Given the description of an element on the screen output the (x, y) to click on. 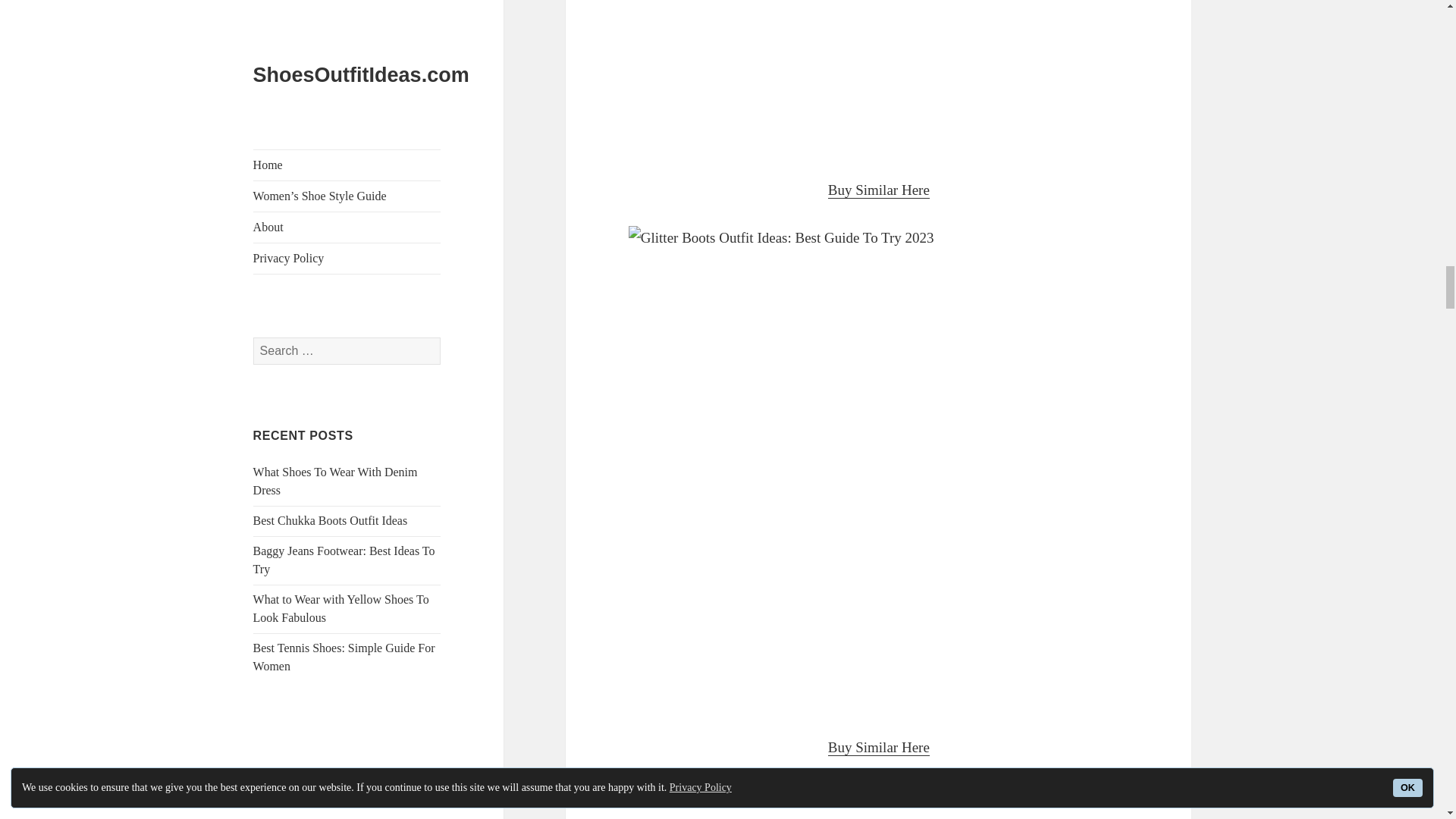
Glitter Boots Outfit Ideas: Best Guide To Try 2023 (878, 76)
Buy Similar Here (879, 747)
Glitter Boots Outfit Ideas: Best Guide To Try 2023 (878, 801)
Buy Similar Here (879, 190)
